Given the description of an element on the screen output the (x, y) to click on. 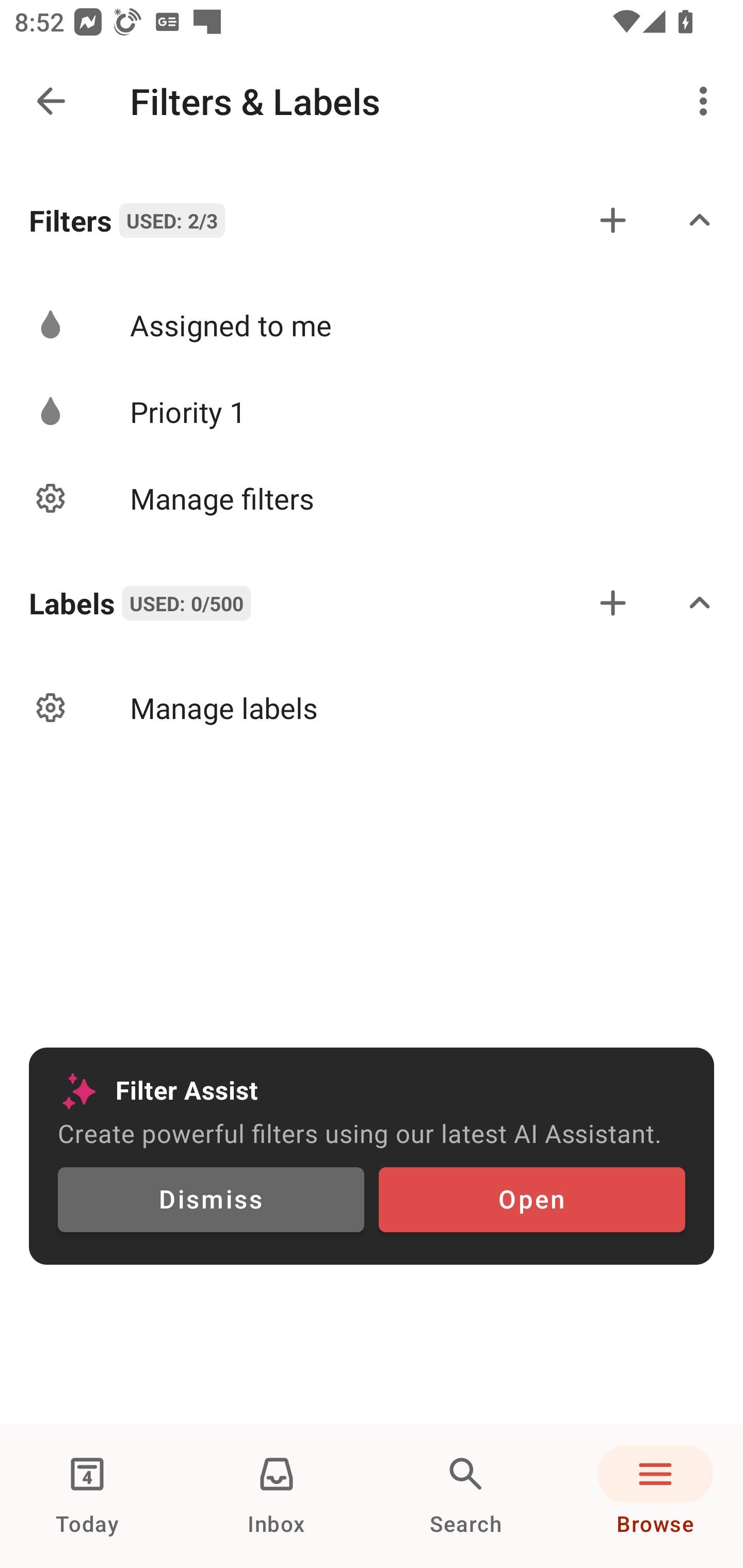
Navigate up Filters & Labels More options (371, 100)
Navigate up (50, 101)
More options (706, 101)
Filters USED: 2/3 Add Expand/collapse (371, 220)
Add (612, 220)
Assigned to me (371, 325)
Priority 1 (371, 411)
Manage filters (371, 497)
Labels USED: 0/500 Add Expand/collapse (371, 602)
Add (612, 602)
Manage labels (371, 707)
Dismiss (210, 1200)
Open (531, 1200)
Today (87, 1495)
Inbox (276, 1495)
Search (465, 1495)
